Given the description of an element on the screen output the (x, y) to click on. 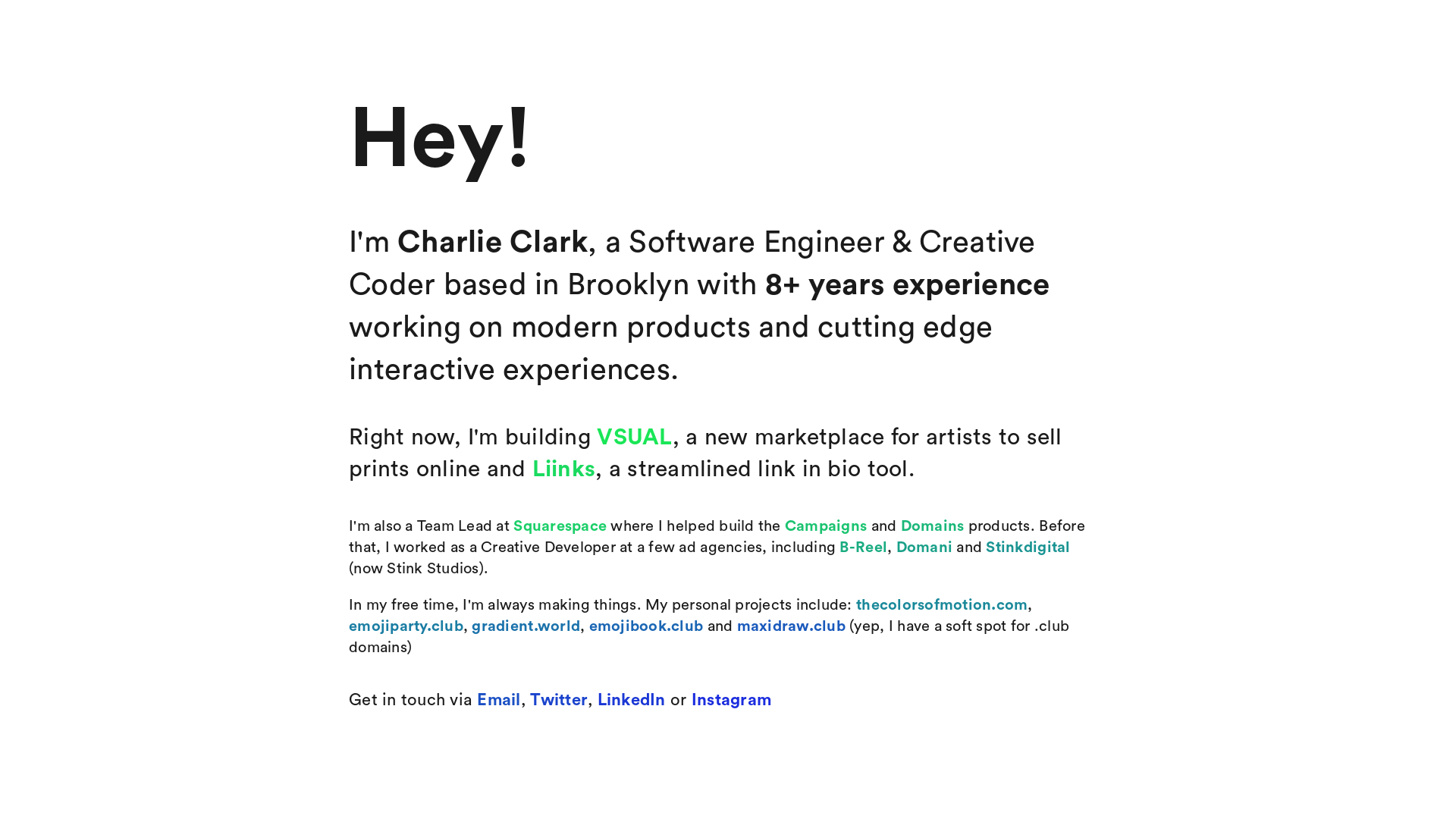
thecolorsofmotion.com Element type: text (941, 604)
B-Reel Element type: text (863, 547)
Campaigns Element type: text (825, 525)
emojiparty.club Element type: text (405, 625)
emojibook.club Element type: text (646, 625)
VSUAL Element type: text (633, 437)
Email Element type: text (498, 699)
LinkedIn Element type: text (631, 699)
Liinks Element type: text (564, 469)
Twitter Element type: text (558, 699)
maxidraw.club Element type: text (791, 625)
gradient.world Element type: text (525, 625)
Instagram Element type: text (731, 699)
Domains Element type: text (932, 525)
Domani Element type: text (924, 547)
Squarespace Element type: text (559, 525)
Stinkdigital Element type: text (1027, 547)
